Given the description of an element on the screen output the (x, y) to click on. 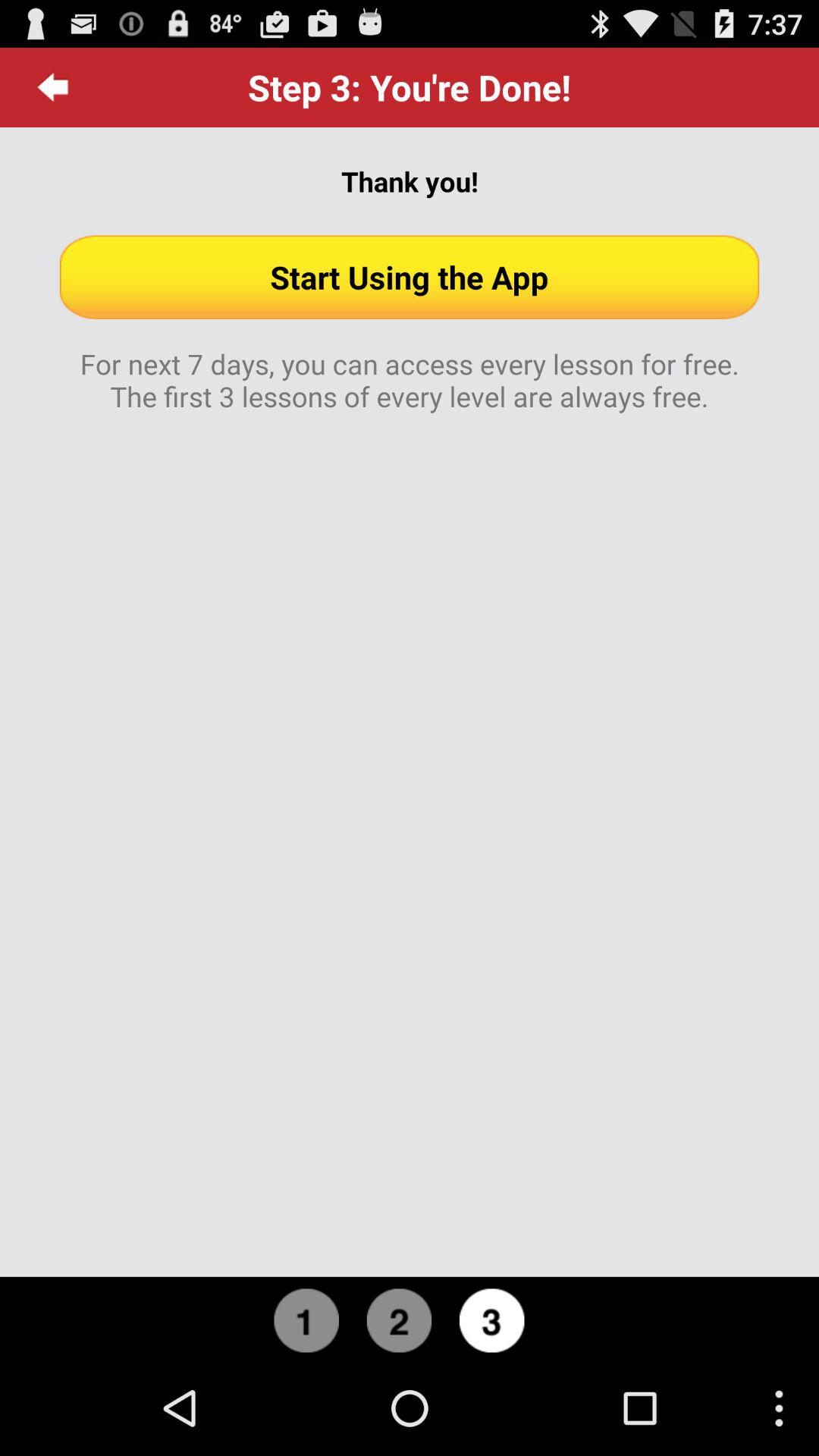
click icon above thank you! icon (53, 87)
